Given the description of an element on the screen output the (x, y) to click on. 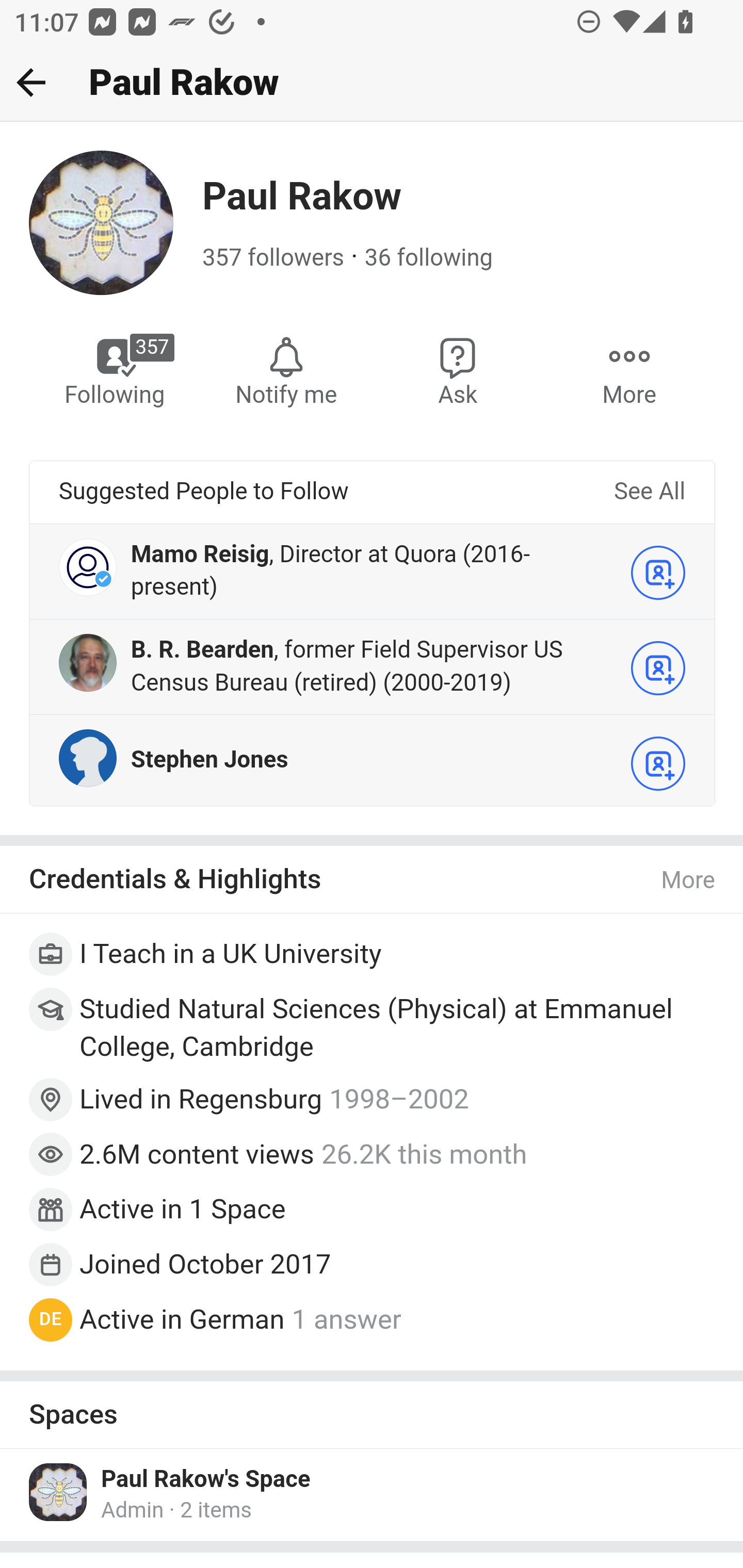
Me Home Search Add (371, 82)
Back Paul Rakow (371, 82)
Back (30, 82)
357 followers (273, 257)
36 following (428, 257)
Following Paul Rakow 357 Following (115, 370)
Notify me (285, 370)
Ask (458, 370)
More (628, 370)
See All (649, 492)
Profile photo for Mamo Reisig (87, 565)
Mamo Reisig (200, 554)
Follow Mamo Reisig (658, 572)
Profile photo for B. R. Bearden (87, 661)
B. R. Bearden (202, 648)
Follow B. R. Bearden (658, 667)
Profile photo for Stephen Jones (87, 757)
Follow Stephen Jones (658, 763)
Stephen Jones (209, 759)
More (688, 880)
Active in German Active in  German (182, 1319)
Icon for Paul Rakow's Space (58, 1491)
Paul Rakow's Space (206, 1479)
